Given the description of an element on the screen output the (x, y) to click on. 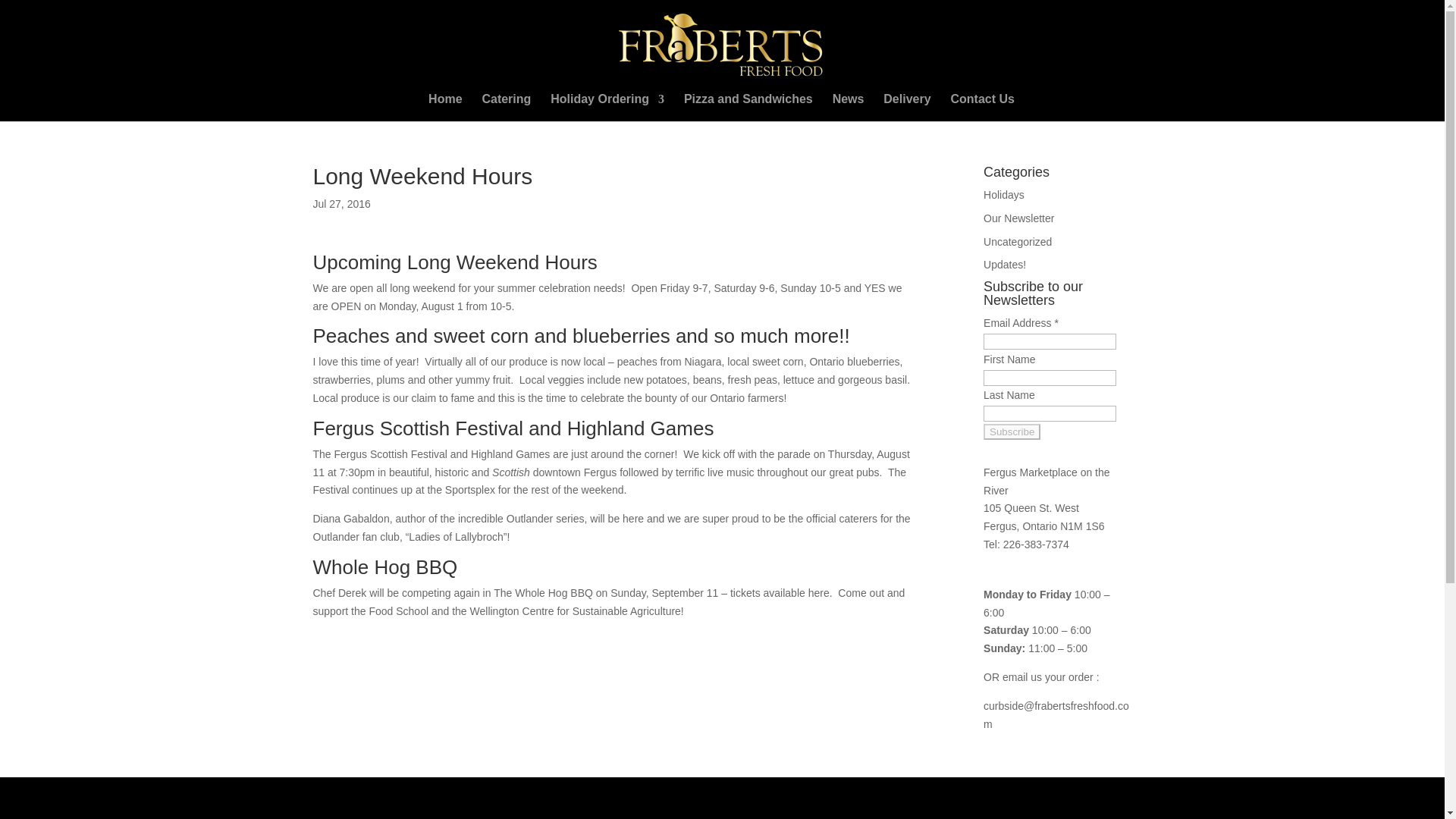
Updates! (1005, 264)
News (848, 107)
Our Newsletter (1019, 218)
Holidays (1004, 194)
Subscribe (1012, 431)
Uncategorized (1017, 241)
Pizza and Sandwiches (748, 107)
Delivery (906, 107)
Home (444, 107)
Contact Us (981, 107)
Catering (506, 107)
Subscribe (1012, 431)
Holiday Ordering (606, 107)
